Given the description of an element on the screen output the (x, y) to click on. 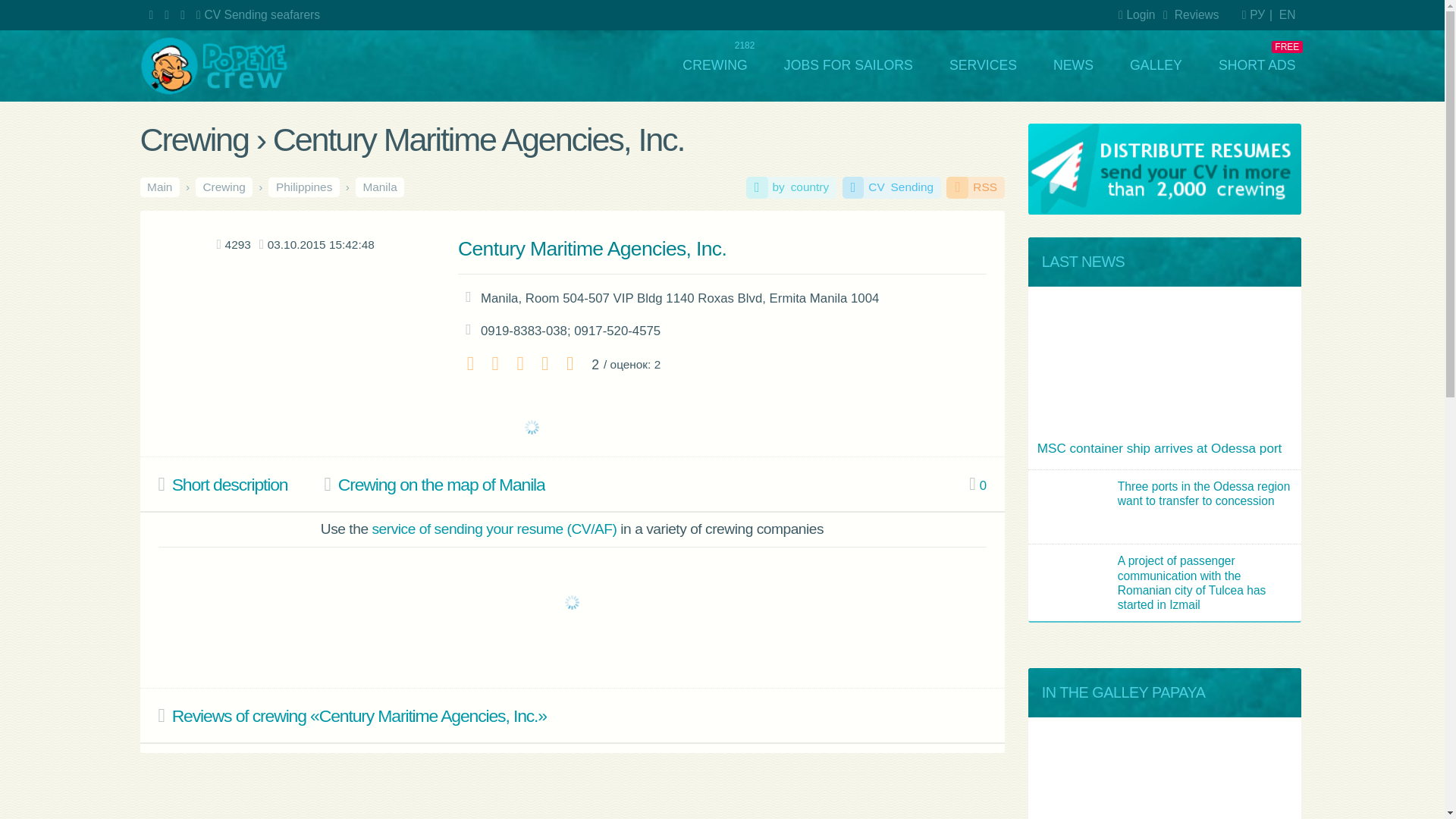
Crewing company profile (185, 403)
Crewing (187, 155)
CREWING (595, 54)
Philippines (253, 155)
GALLEY (963, 54)
JOBS FOR SAILORS (707, 54)
0 (814, 403)
MSC container ship arrives at Odessa port (970, 373)
Address (390, 247)
